Given the description of an element on the screen output the (x, y) to click on. 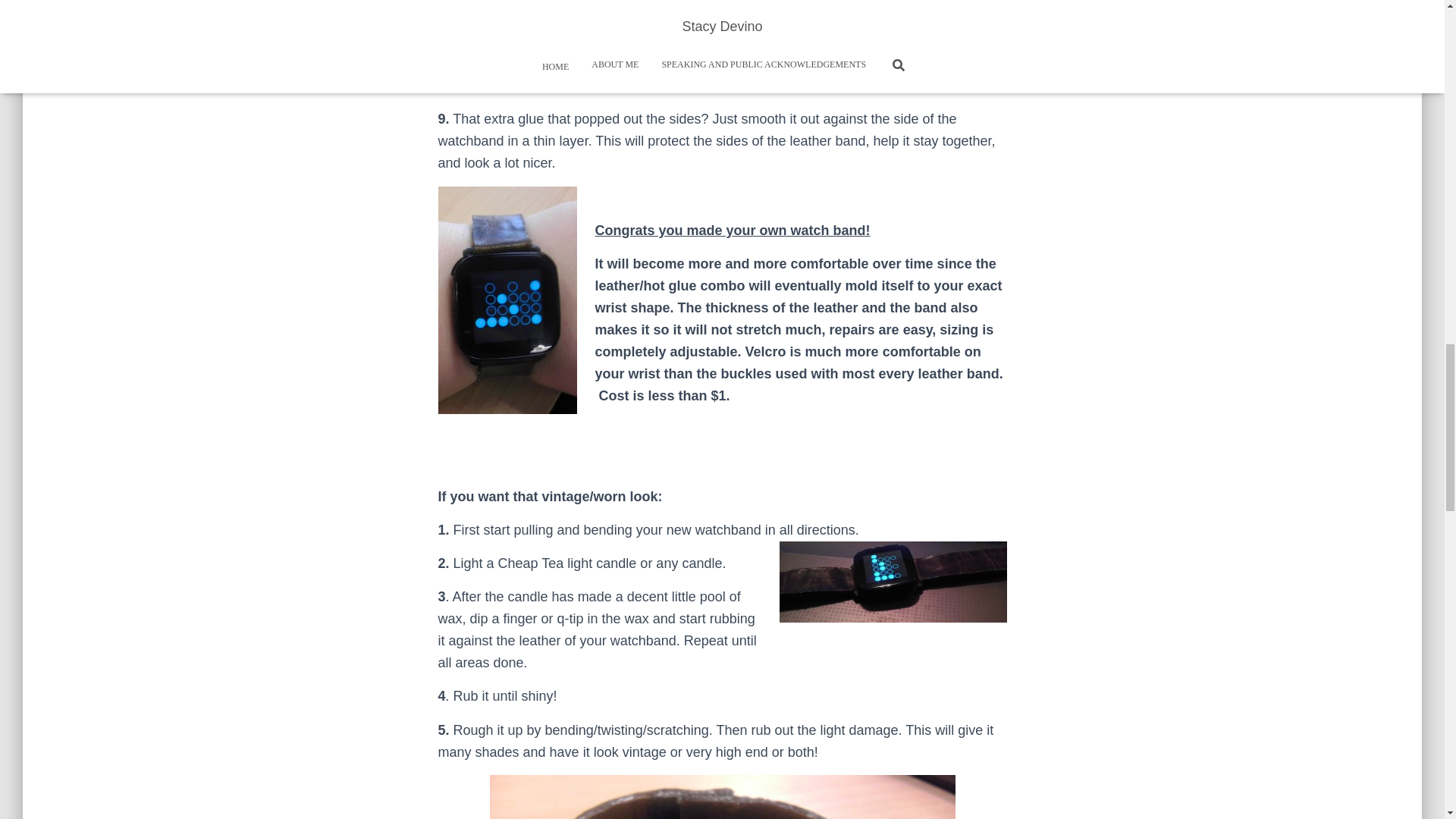
IMAG0450 (892, 581)
IMAG0468 (722, 796)
